Given the description of an element on the screen output the (x, y) to click on. 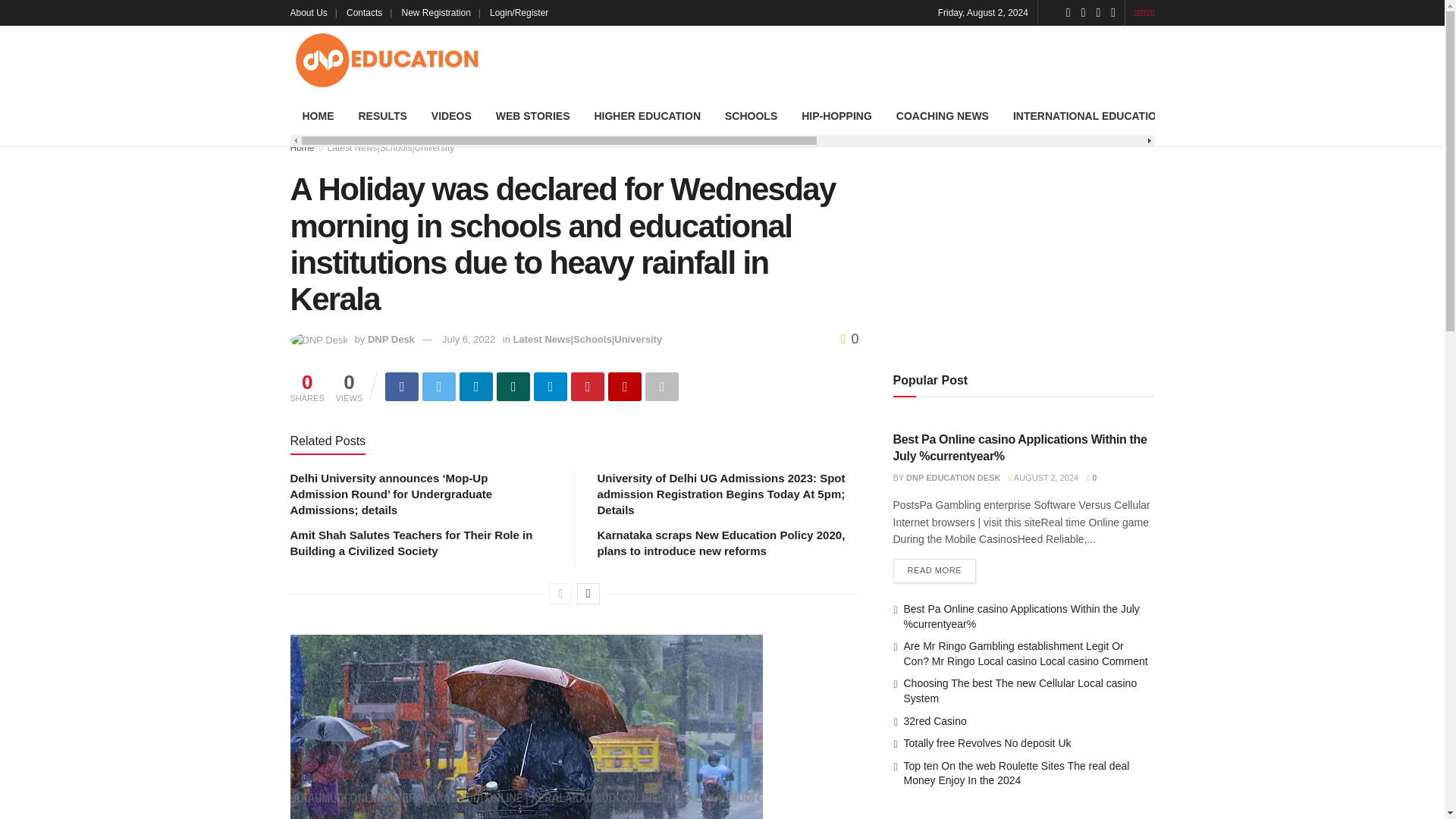
VIDEOS (451, 116)
COACHING NEWS (942, 116)
TECH (1202, 116)
Next (587, 593)
INTERNATIONAL EDUCATION (1088, 116)
SCIENCE (1264, 116)
WEB STORIES (532, 116)
PATENTS (1336, 116)
HOME (317, 116)
New Registration (440, 12)
